Given the description of an element on the screen output the (x, y) to click on. 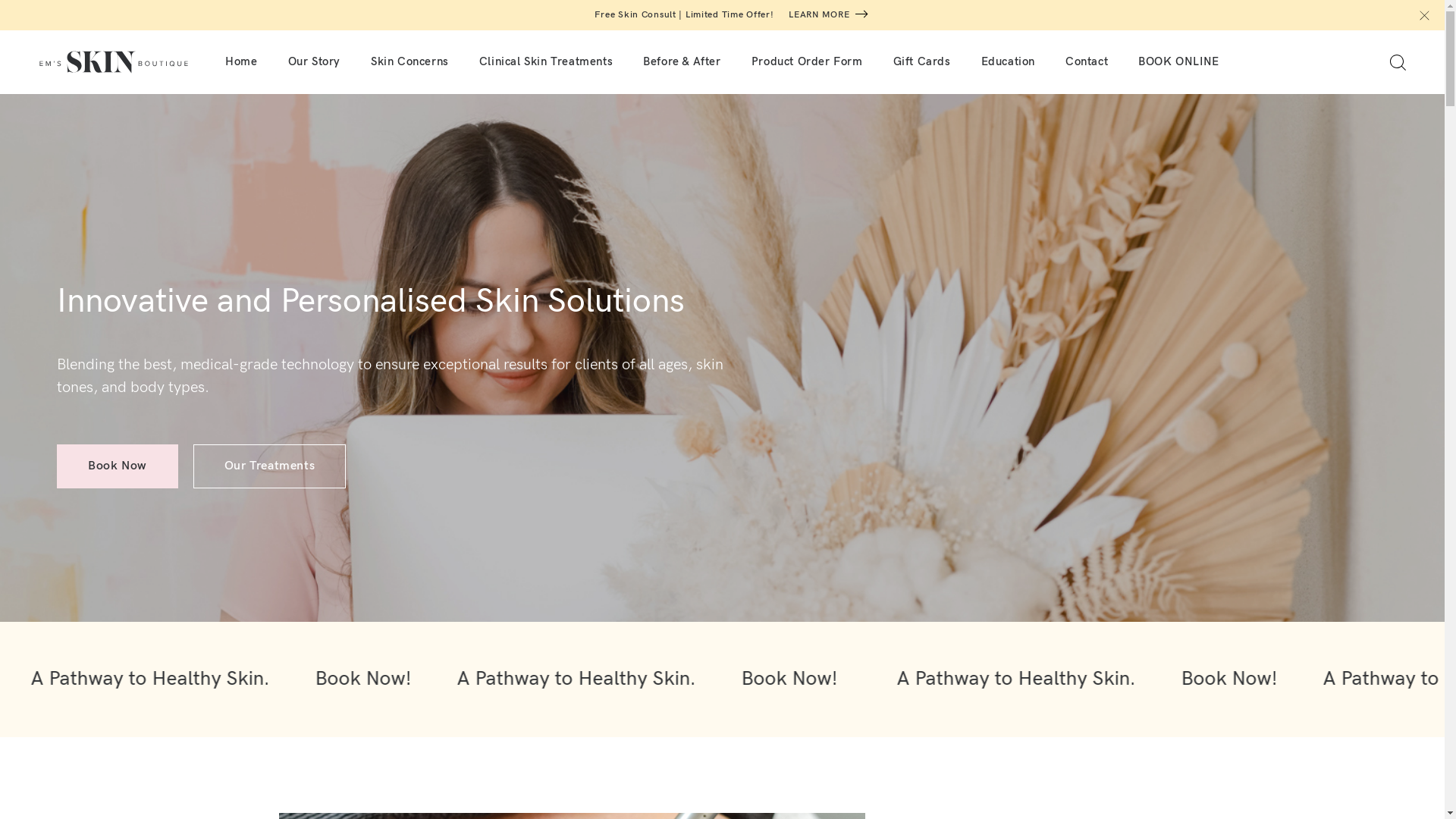
Home Element type: text (241, 62)
Gift Cards Element type: text (921, 62)
Our Treatments Element type: text (269, 466)
BOOK ONLINE Element type: text (1178, 62)
Skin Concerns Element type: text (409, 62)
Contact Element type: text (1086, 62)
Clinical Skin Treatments Element type: text (545, 62)
Before & After Element type: text (681, 62)
Book Now Element type: text (117, 466)
Product Order Form Element type: text (806, 62)
LEARN MORE Element type: text (818, 14)
Education Element type: text (1008, 62)
Log In Element type: text (721, 459)
Our Story Element type: text (314, 62)
